Given the description of an element on the screen output the (x, y) to click on. 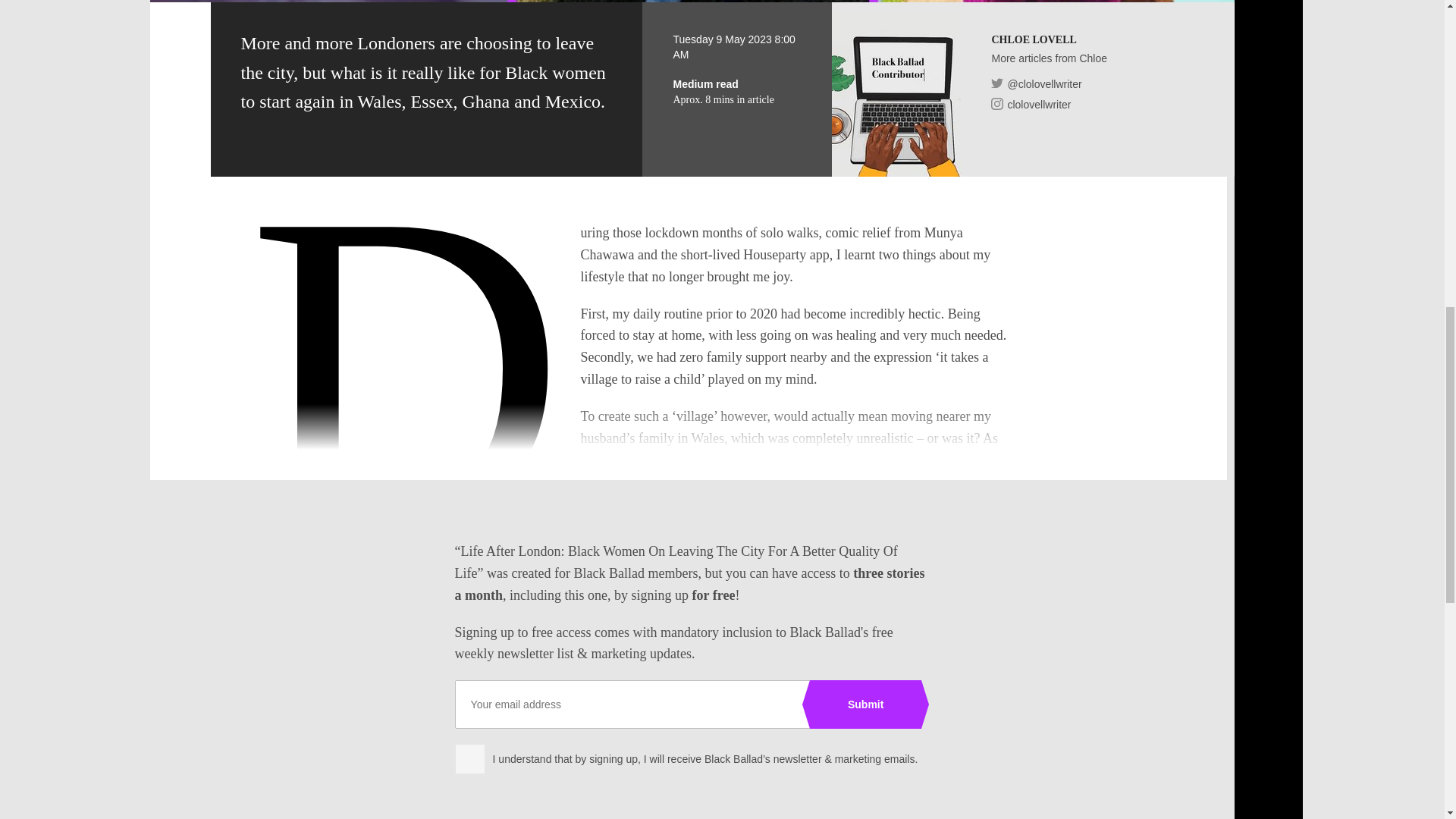
Submit (865, 704)
More articles from Chloe (1048, 58)
clolovellwriter (1030, 102)
